Given the description of an element on the screen output the (x, y) to click on. 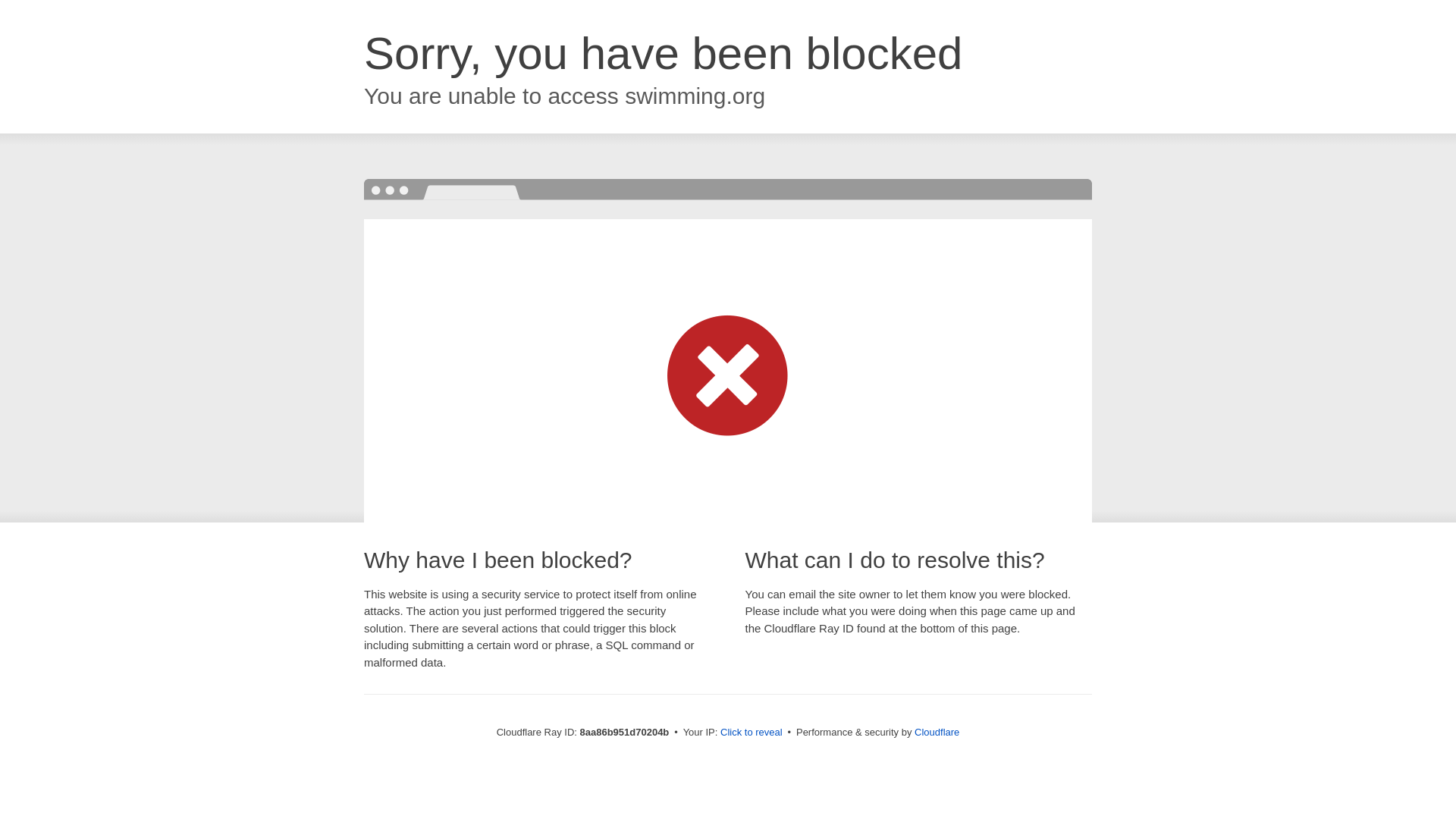
Click to reveal (751, 732)
Cloudflare (936, 731)
